Given the description of an element on the screen output the (x, y) to click on. 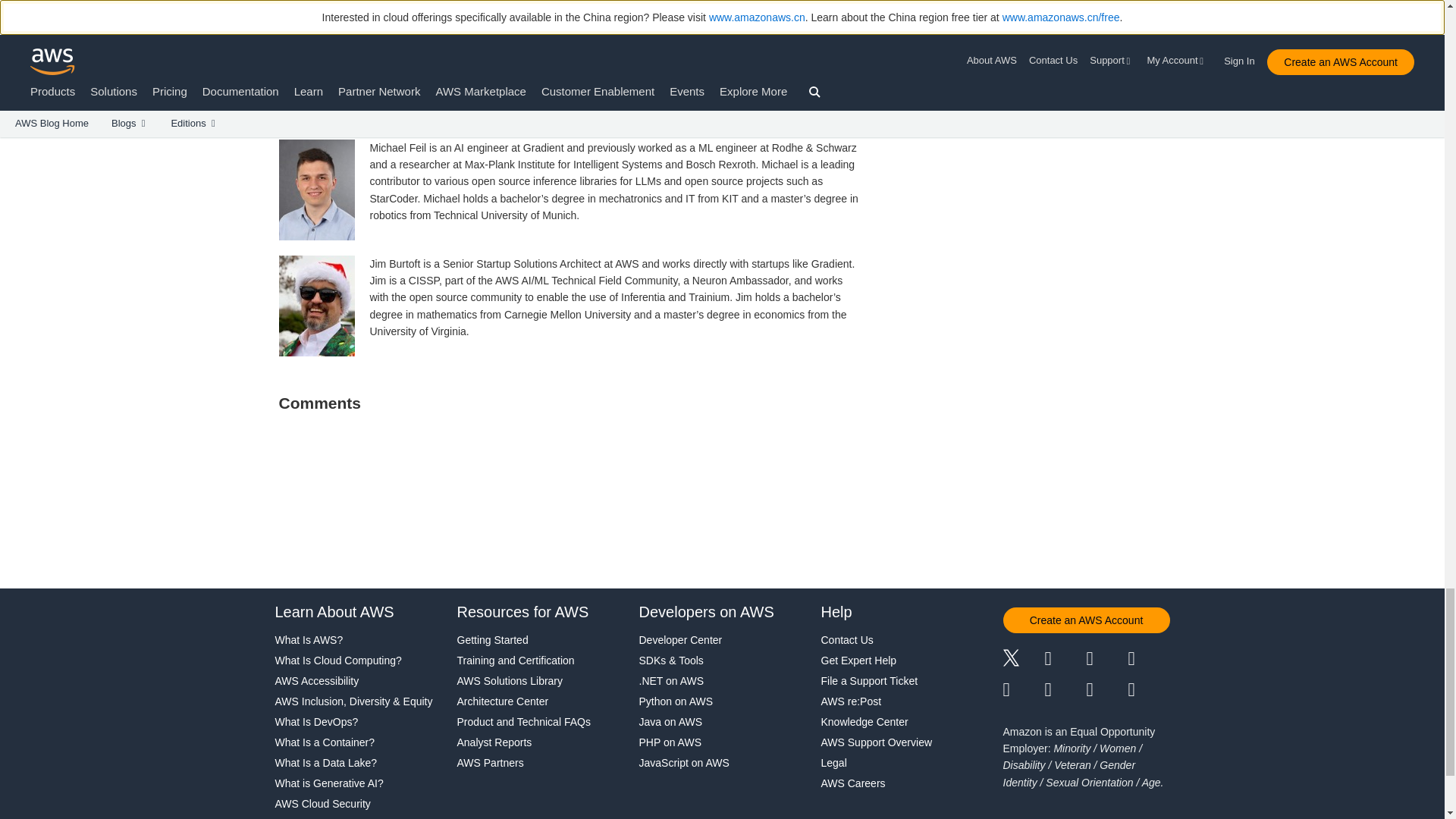
Facebook (1065, 659)
YouTube (1065, 690)
Podcast (1106, 690)
Instagram (1149, 659)
Email (1149, 690)
Linkedin (1106, 659)
Twitter (1023, 659)
Twitch (1023, 690)
